Given the description of an element on the screen output the (x, y) to click on. 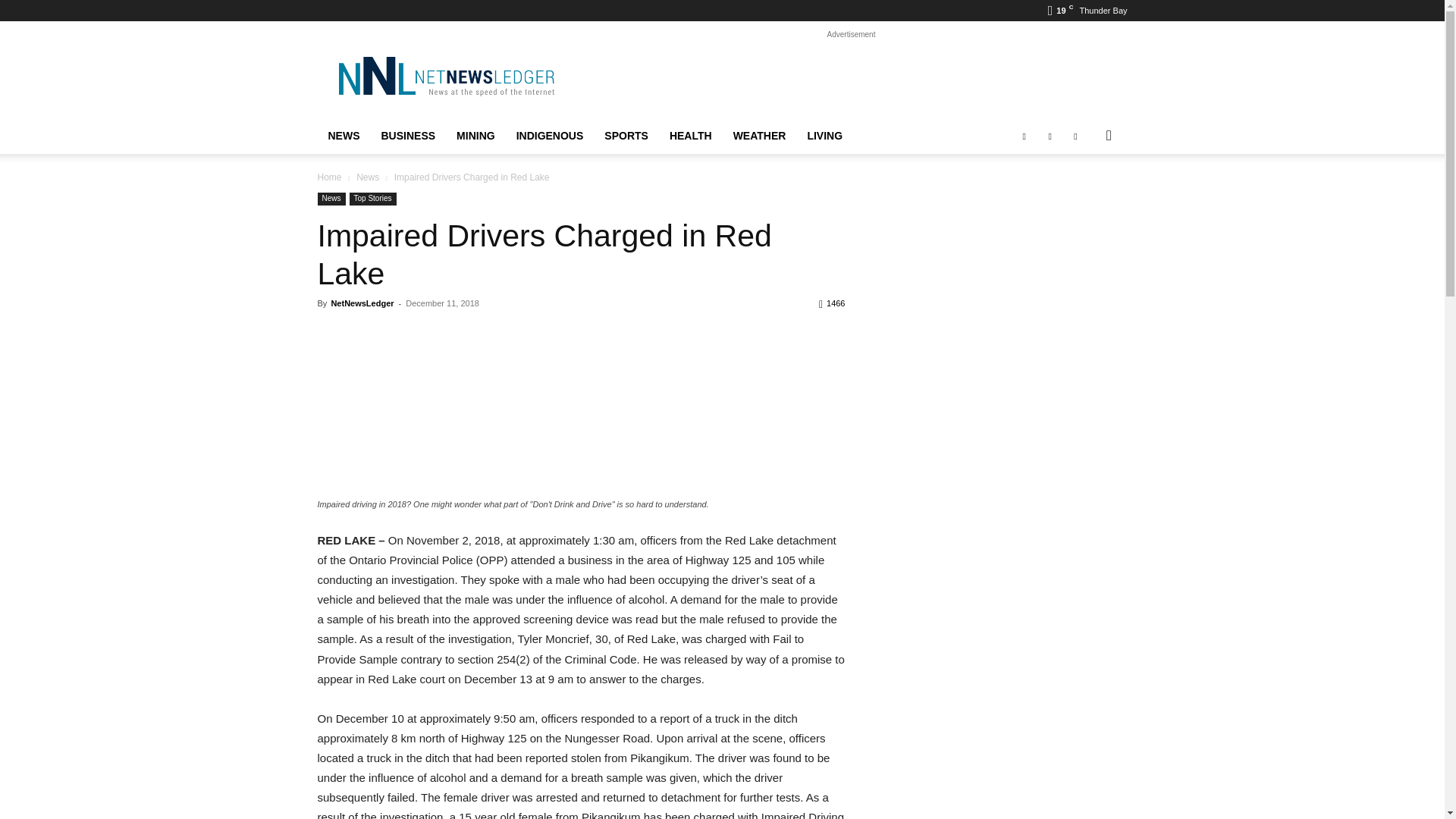
NetNewsLedger (445, 76)
View all posts in News (367, 176)
